Given the description of an element on the screen output the (x, y) to click on. 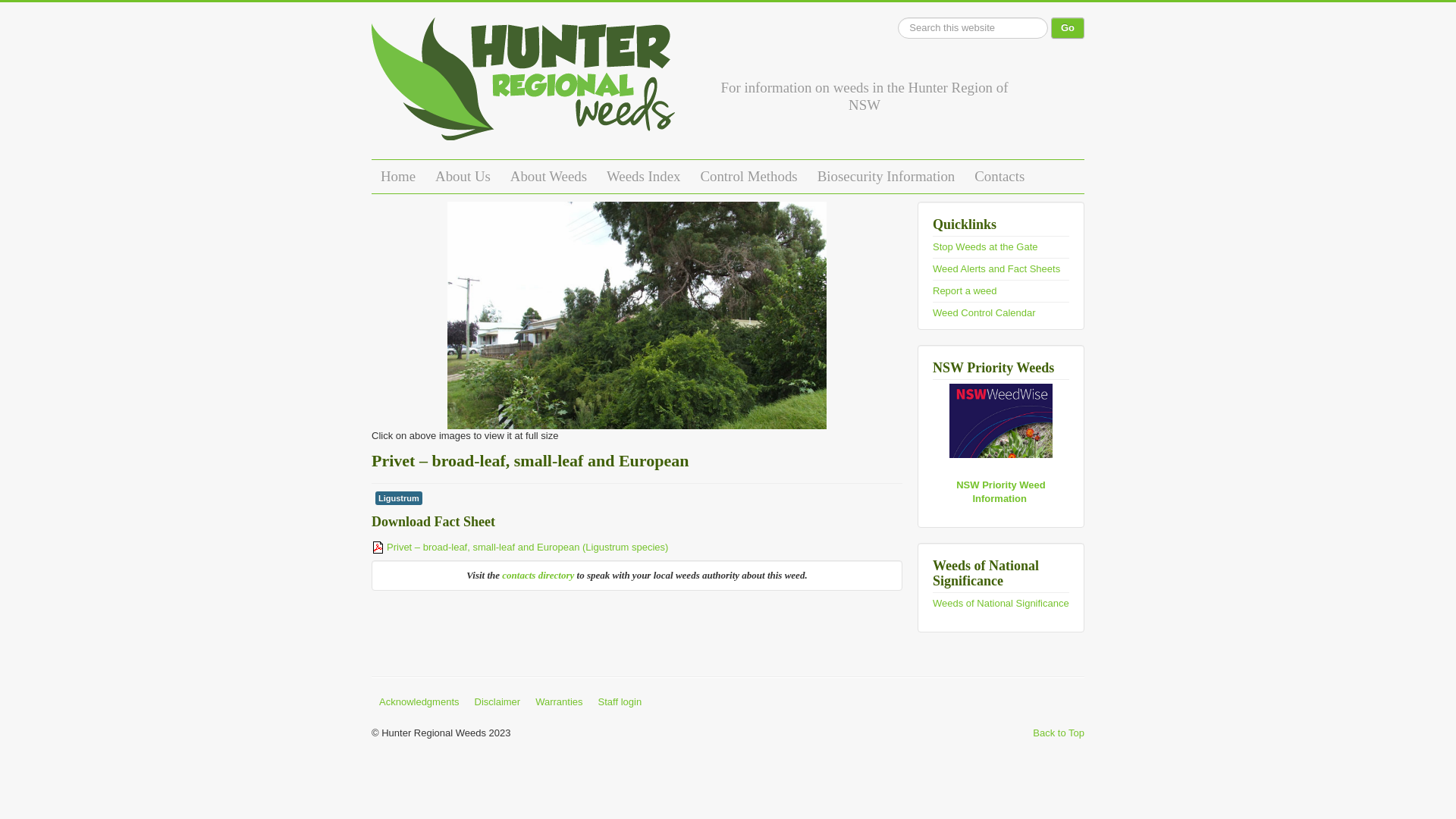
Biosecurity Information Element type: text (886, 176)
Weeds of National Significance Element type: text (1000, 602)
Weed Alerts and Fact Sheets Element type: text (996, 268)
Weed Control Calendar Element type: text (983, 312)
Control Methods Element type: text (748, 176)
Stop Weeds at the Gate Element type: text (985, 246)
Warranties Element type: text (558, 701)
NSW Priority Weed Information Element type: text (1000, 491)
Weeds Index Element type: text (643, 176)
About Weeds Element type: text (548, 176)
Home Element type: text (397, 176)
Disclaimer Element type: text (497, 701)
For information on weeds in the Hunter Region of NSW Element type: text (522, 84)
Staff login Element type: text (620, 701)
Acknowledgments Element type: text (419, 701)
Ligustrum Element type: text (398, 498)
contacts directory Element type: text (538, 574)
Report a weed Element type: text (964, 290)
About Us Element type: text (462, 176)
Back to Top Element type: text (1058, 732)
Go Element type: text (1067, 27)
Contacts Element type: text (999, 176)
